Given the description of an element on the screen output the (x, y) to click on. 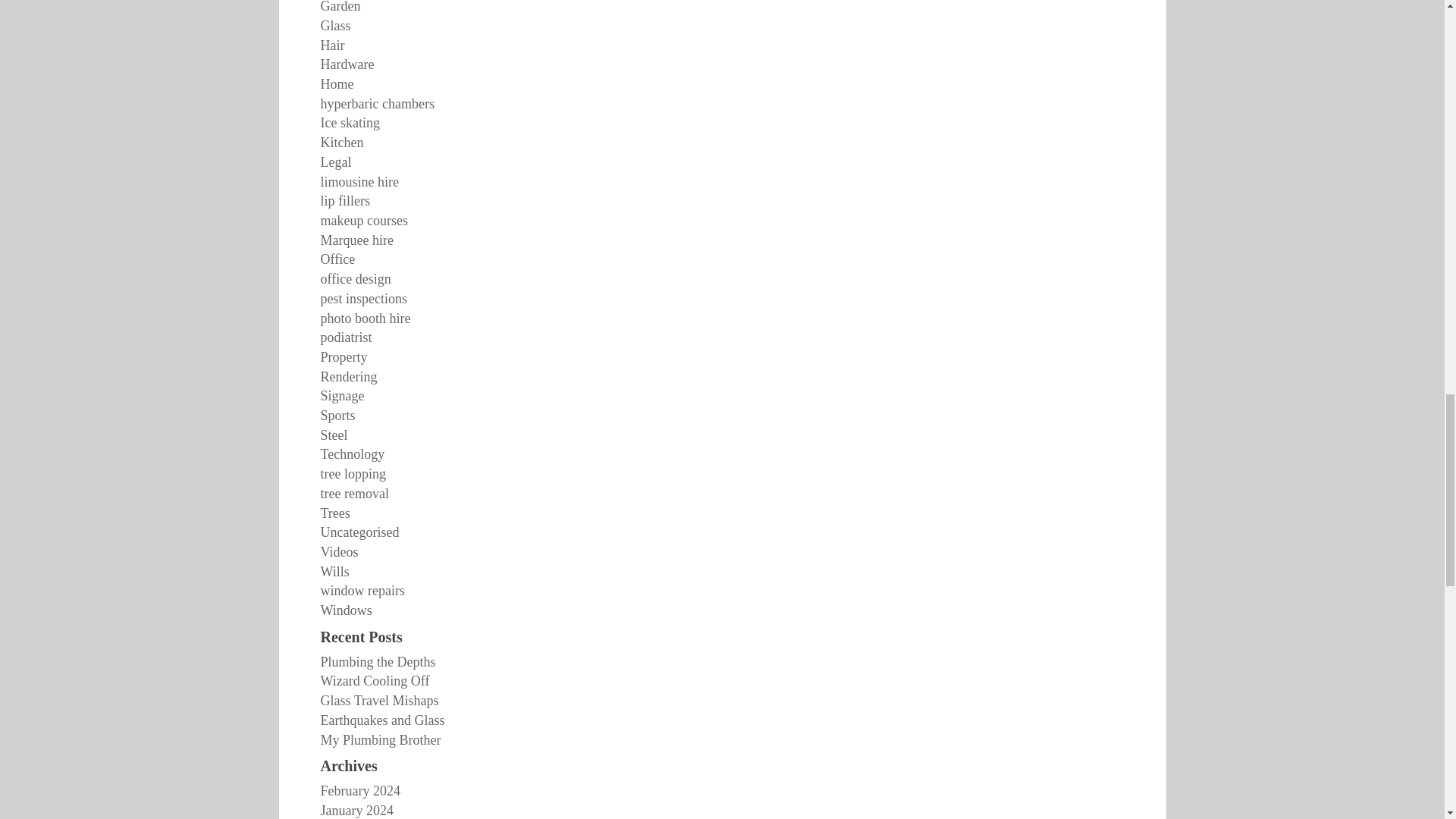
Glass (335, 25)
Hair (331, 45)
hyperbaric chambers (376, 103)
Home (336, 83)
Hardware (347, 64)
Garden (339, 6)
